Given the description of an element on the screen output the (x, y) to click on. 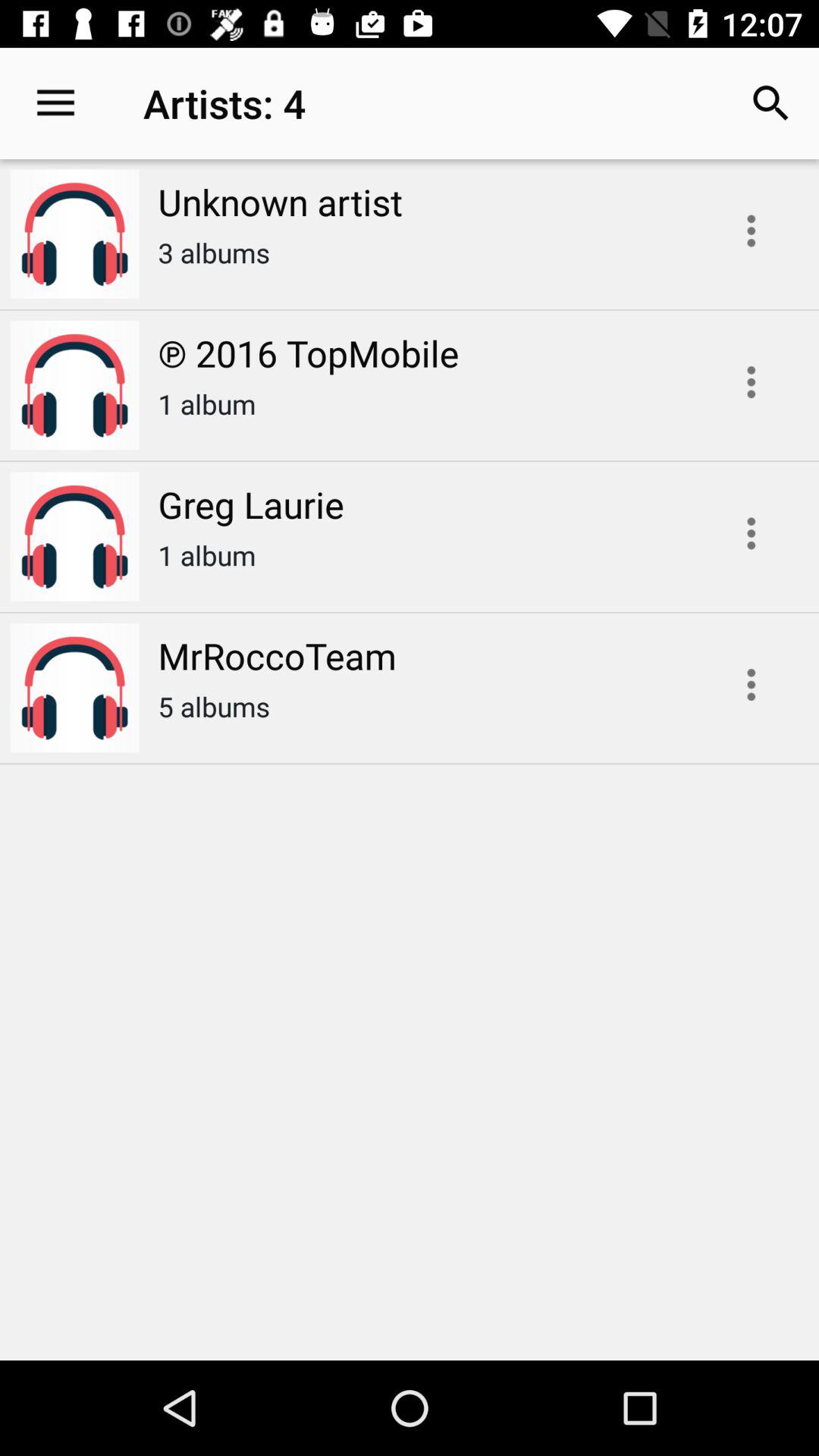
view song options (750, 230)
